Given the description of an element on the screen output the (x, y) to click on. 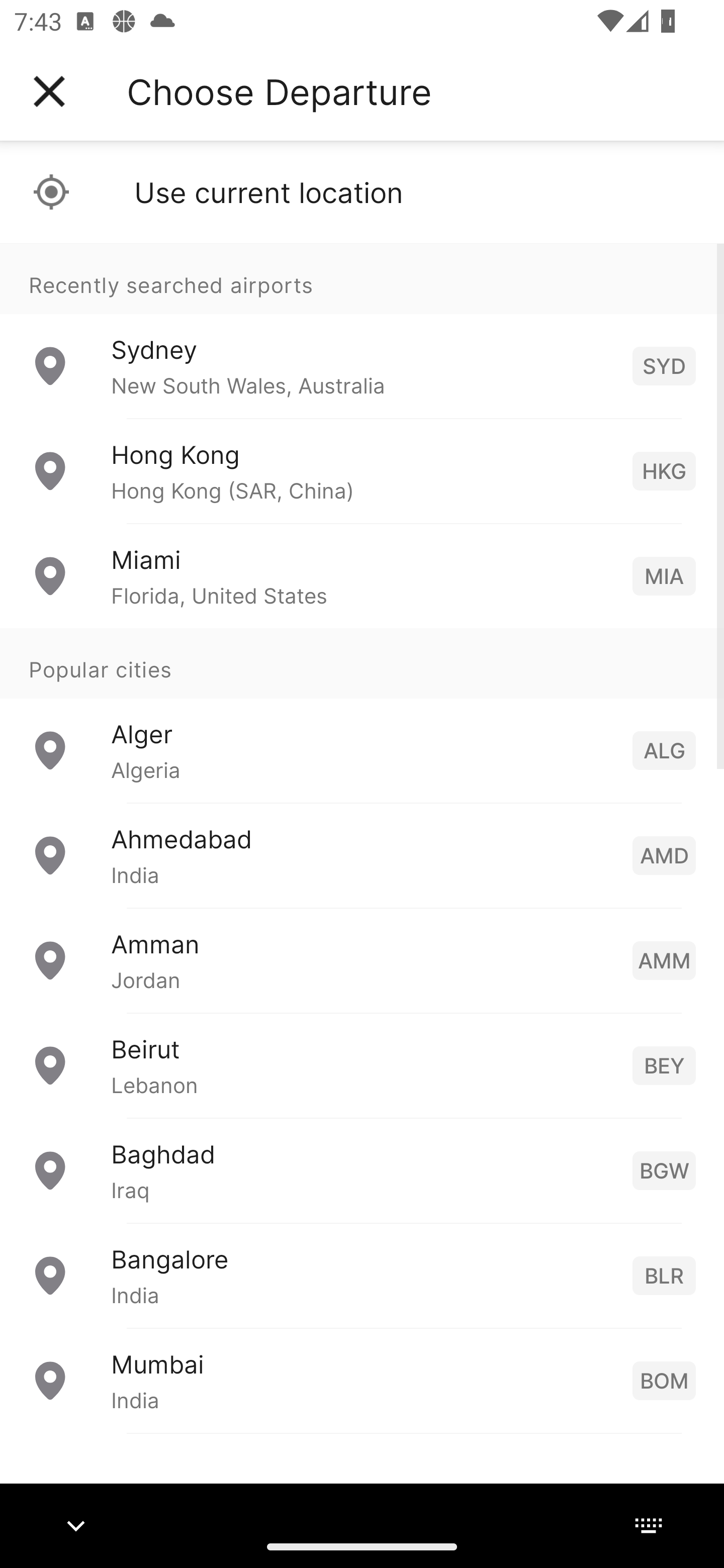
Choose Departure (279, 91)
Use current location (362, 192)
Recently searched airports (362, 278)
Hong Kong Hong Kong (SAR, China) HKG (362, 470)
Miami Florida, United States MIA (362, 575)
Popular cities Alger Algeria ALG (362, 715)
Popular cities (362, 663)
Ahmedabad India AMD (362, 854)
Amman Jordan AMM (362, 959)
Beirut Lebanon BEY (362, 1064)
Baghdad Iraq BGW (362, 1170)
Bangalore India BLR (362, 1275)
Mumbai India BOM (362, 1380)
